Given the description of an element on the screen output the (x, y) to click on. 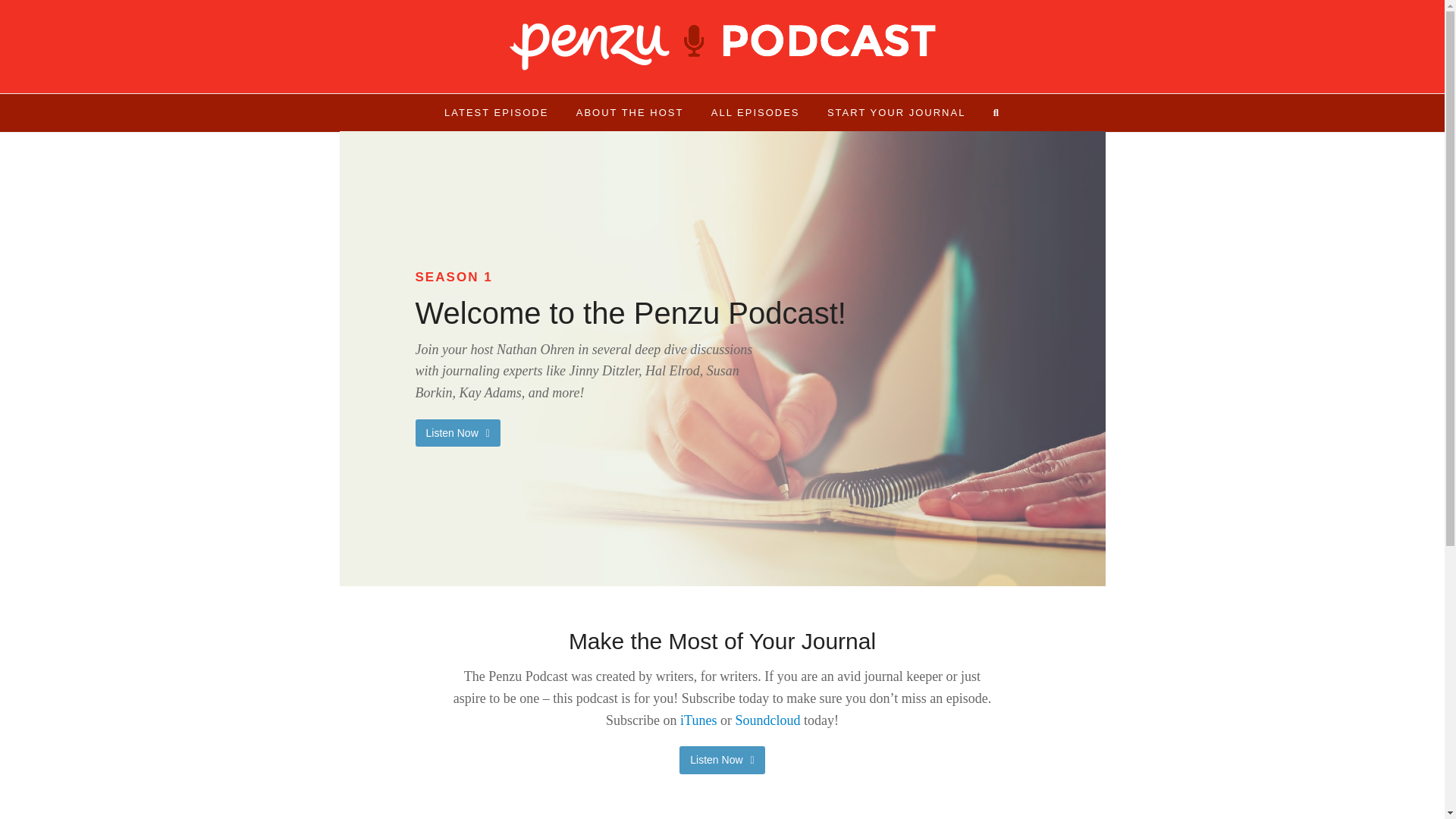
Visit Site (721, 759)
iTunes (697, 720)
Listen Now (457, 432)
LATEST EPISODE (496, 112)
ABOUT THE HOST (629, 112)
ALL EPISODES (754, 112)
Penzu Podcasts (722, 46)
Soundcloud (767, 720)
START YOUR JOURNAL (895, 112)
Visit Site (457, 432)
